Given the description of an element on the screen output the (x, y) to click on. 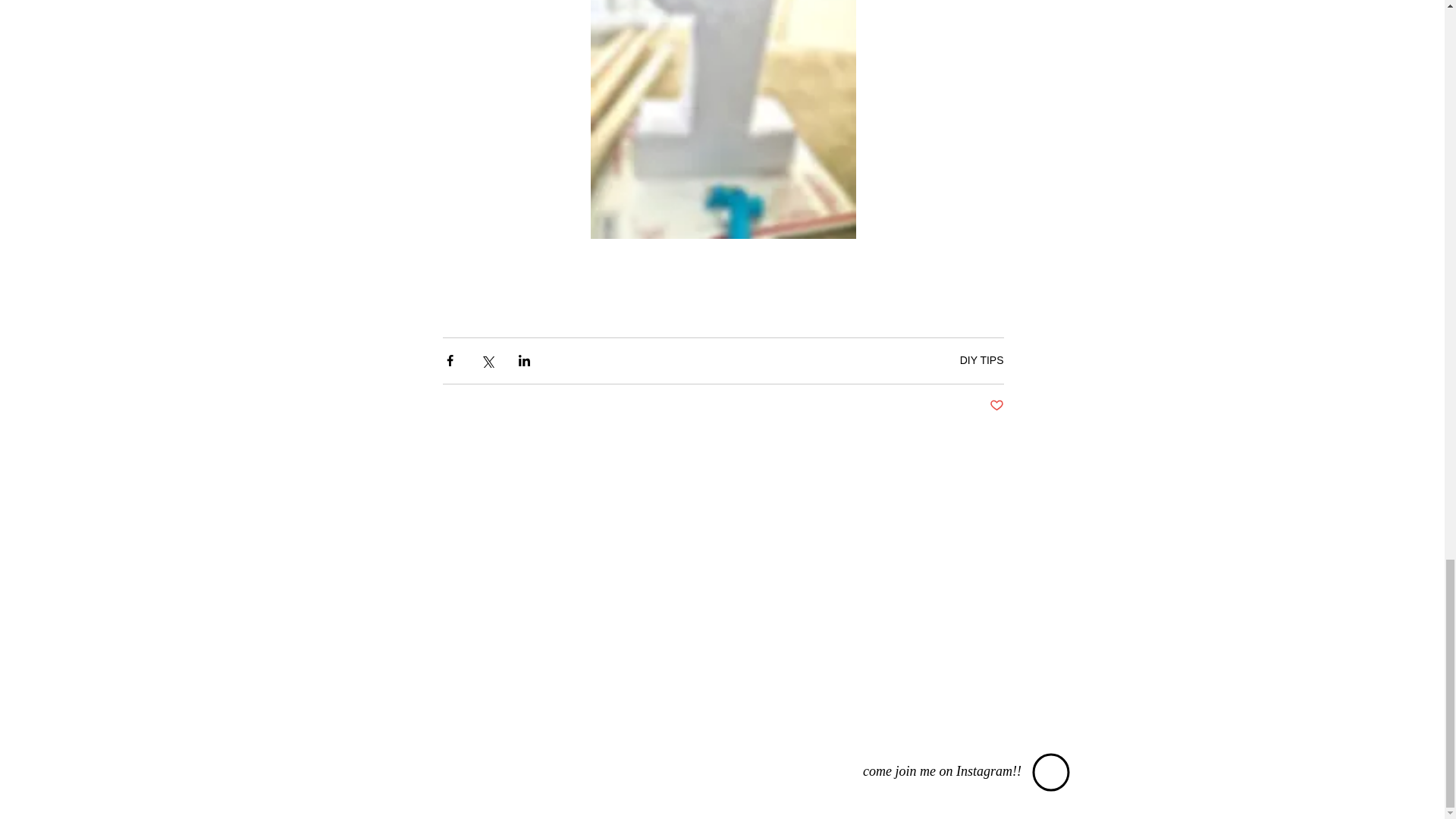
DIY TIPS (981, 359)
come join me on Instagram!! (942, 770)
Post not marked as liked (995, 406)
